Given the description of an element on the screen output the (x, y) to click on. 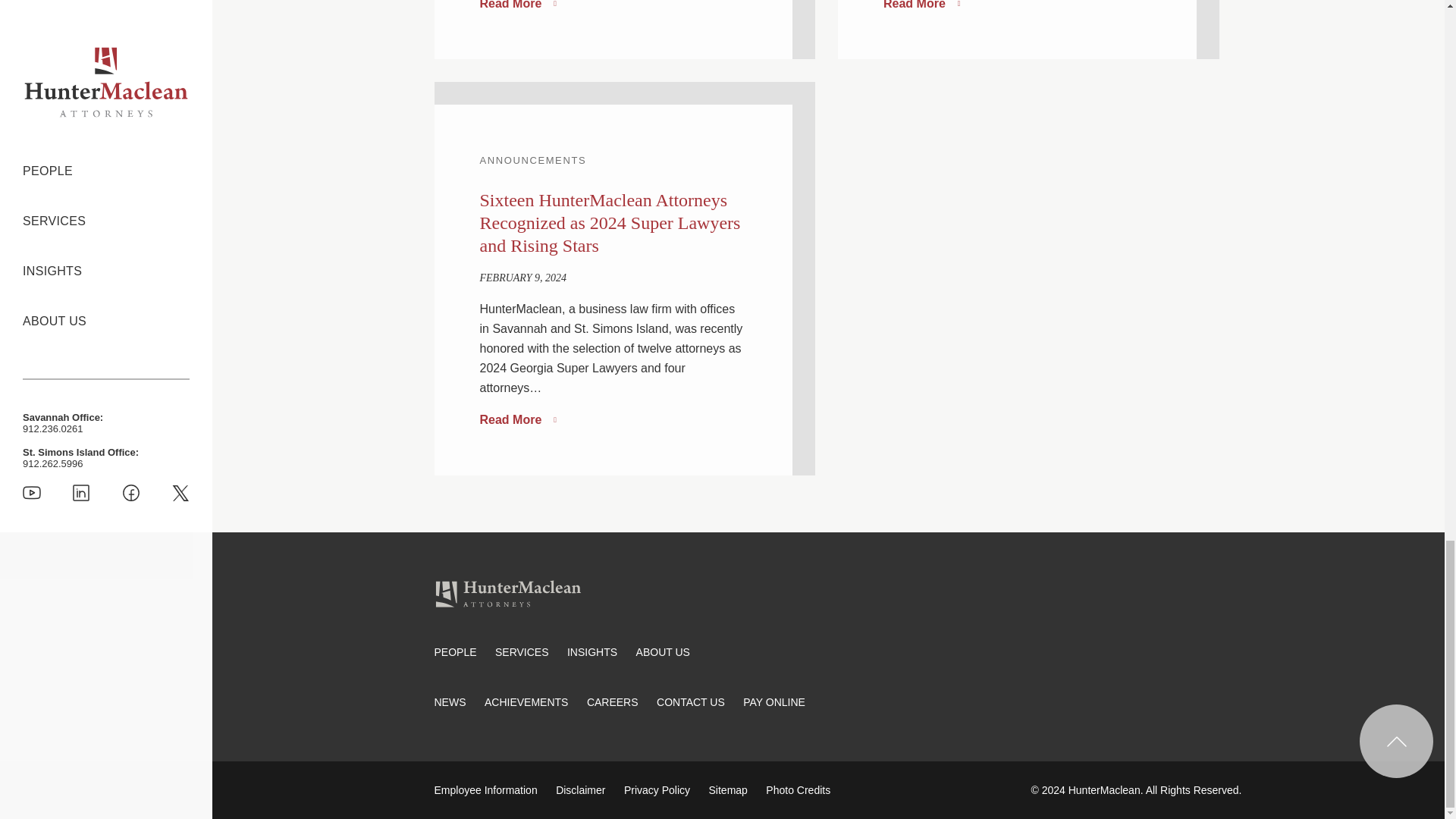
Read More (517, 6)
Read More (921, 6)
HunterMaclean (506, 593)
